Given the description of an element on the screen output the (x, y) to click on. 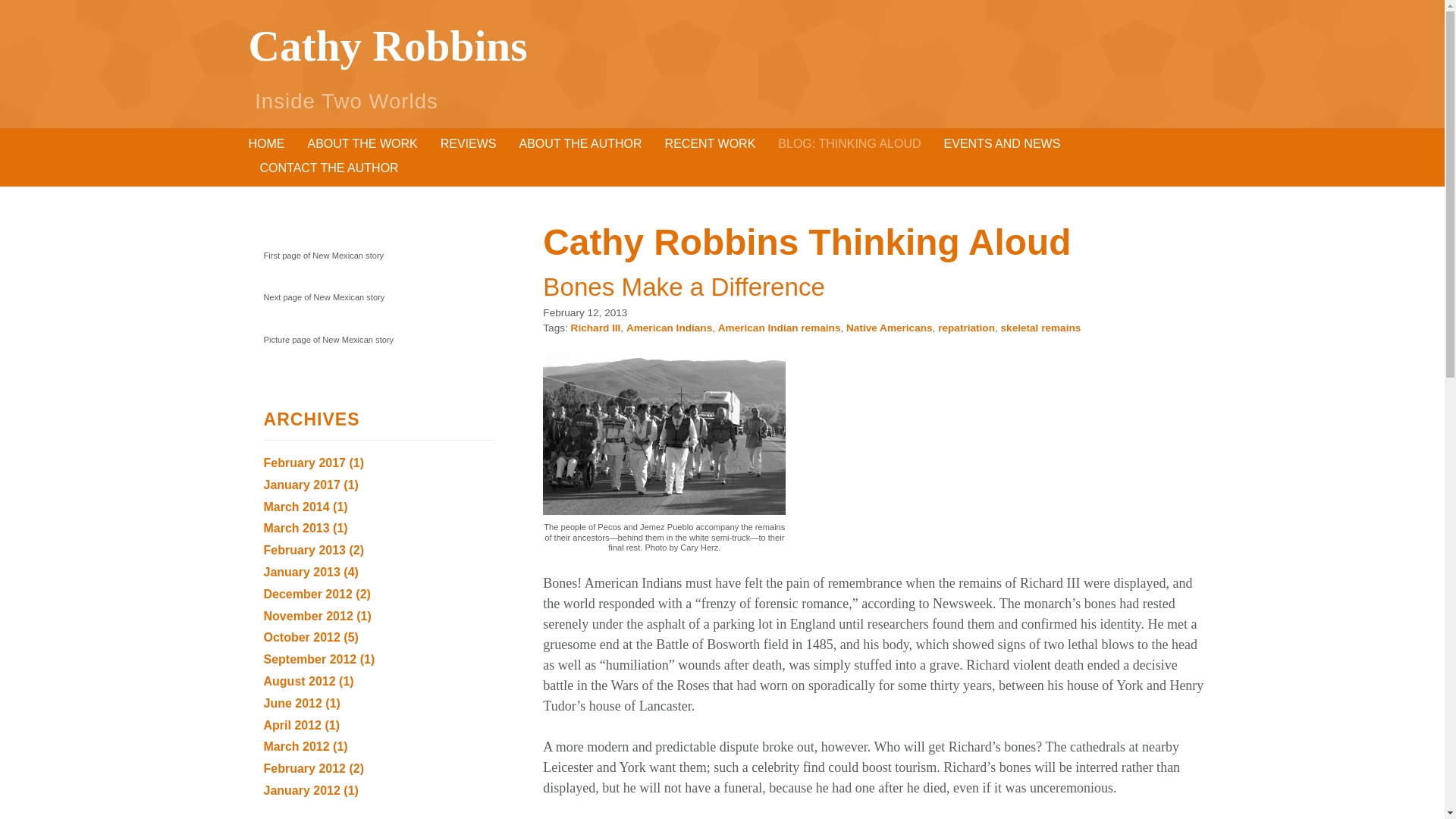
CONTACT THE AUTHOR (328, 167)
Bones Make a Difference (684, 286)
EVENTS AND NEWS (1002, 143)
BLOG: THINKING ALOUD (848, 143)
American Indians (668, 327)
REVIEWS (468, 143)
American Indian remains (779, 327)
HOME (266, 143)
Native Americans (889, 327)
ABOUT THE WORK (362, 143)
repatriation (965, 327)
RECENT WORK (710, 143)
Richard III (595, 327)
ABOUT THE AUTHOR (580, 143)
